Given the description of an element on the screen output the (x, y) to click on. 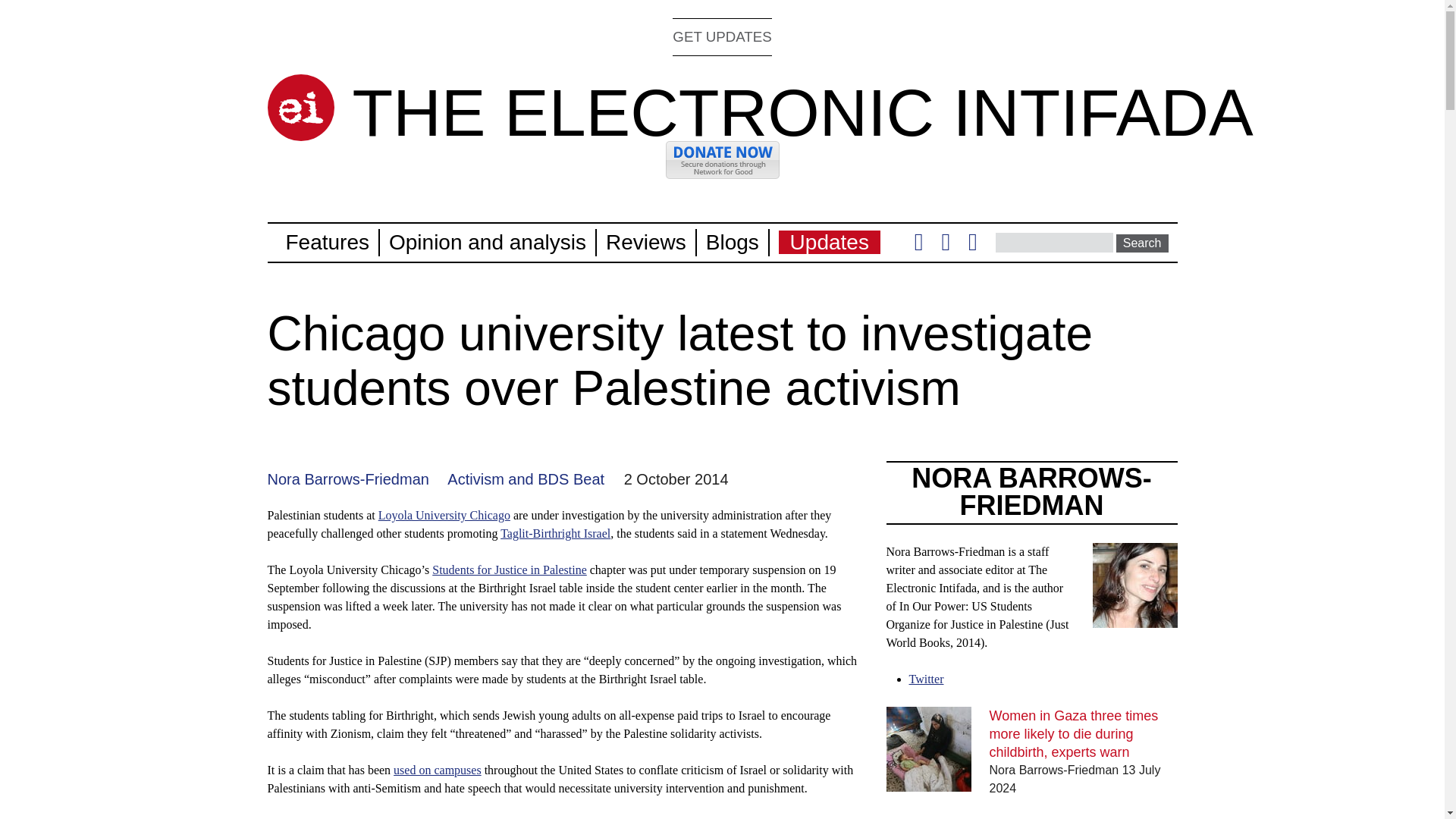
Search (1142, 243)
Students for Justice in Palestine (509, 569)
Home (802, 112)
Home (299, 107)
Taglit-Birthright Israel (555, 533)
THE ELECTRONIC INTIFADA (802, 112)
Loyola University Chicago (444, 514)
Nora Barrows-Friedman's picture (1134, 585)
Nora Barrows-Friedman (347, 478)
Enter the terms you wish to search for. (1054, 242)
used on campuses (437, 769)
Nora Barrows-Friedman's picture (1134, 617)
Activism and BDS Beat (525, 478)
GET UPDATES (721, 37)
